Given the description of an element on the screen output the (x, y) to click on. 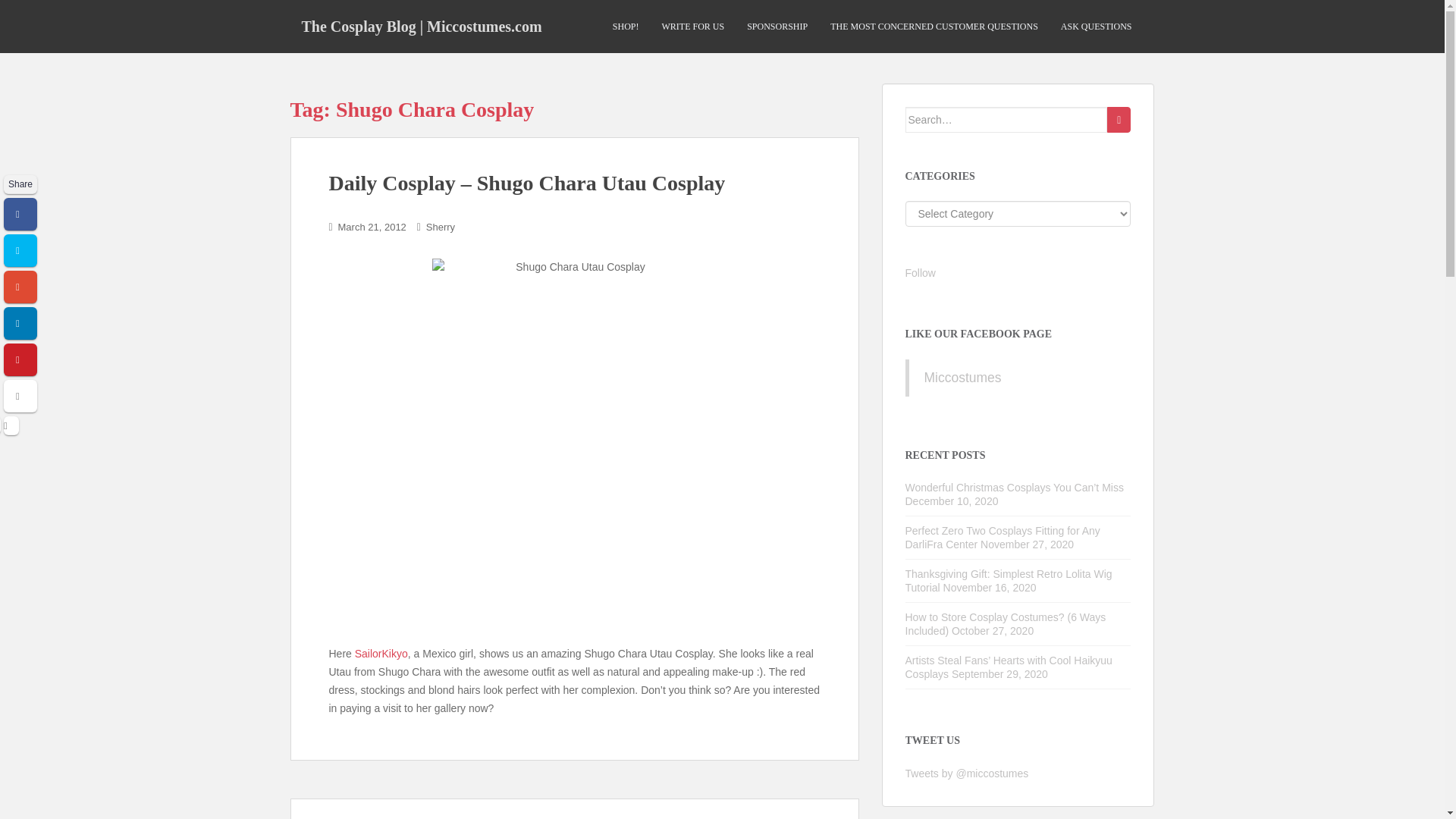
THE MOST CONCERNED CUSTOMER QUESTIONS (933, 26)
Sherry (440, 226)
March 21, 2012 (371, 226)
Search (1118, 119)
Thanksgiving Gift: Simplest Retro Lolita Wig Tutorial (1008, 580)
SailorKikyo (381, 653)
Perfect Zero Two Cosplays Fitting for Any DarliFra Center (1002, 537)
ASK QUESTIONS (1096, 26)
WRITE FOR US (692, 26)
Miccostumes (962, 377)
SPONSORSHIP (777, 26)
